Given the description of an element on the screen output the (x, y) to click on. 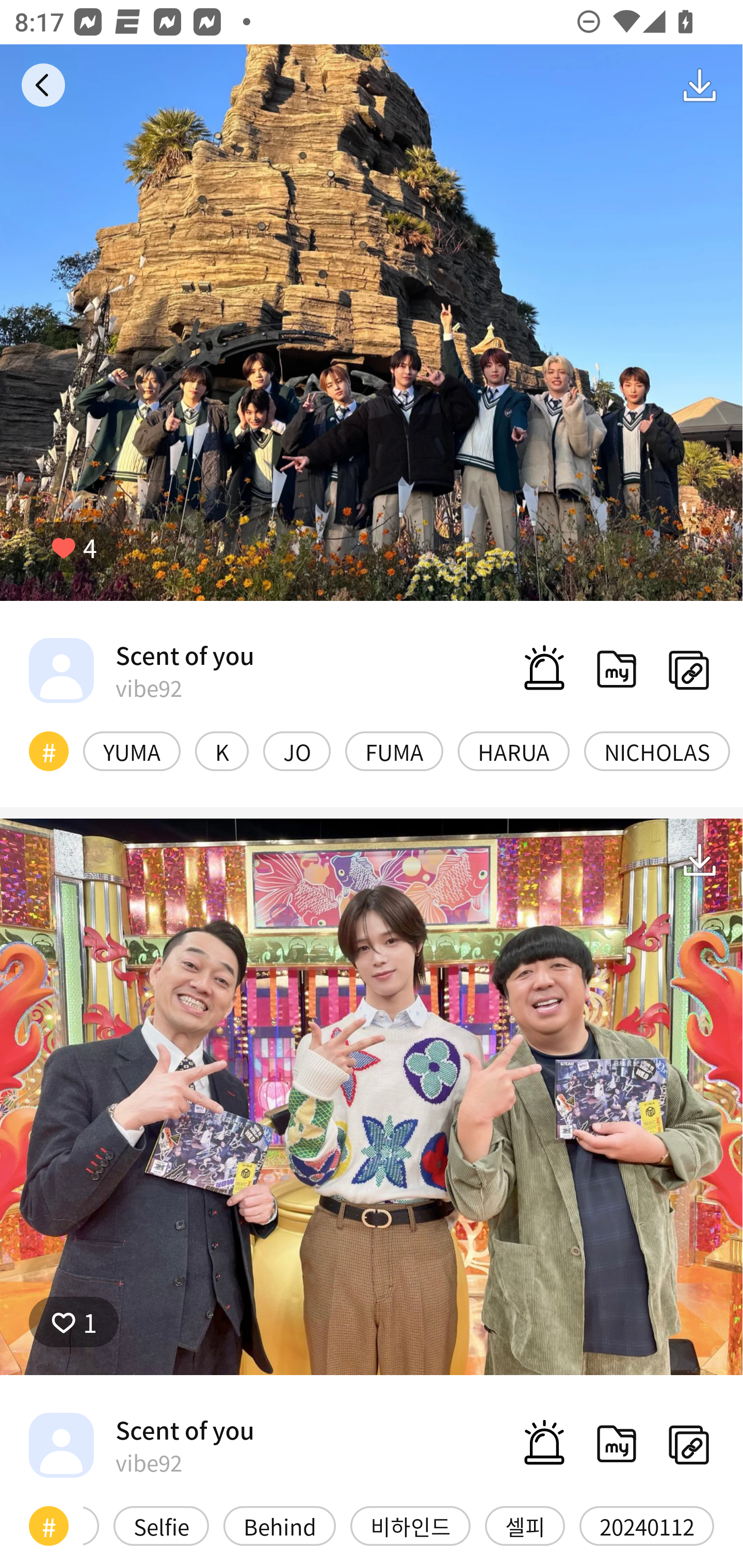
4 (371, 322)
4 (73, 547)
Scent of you vibe92 (141, 670)
YUMA (131, 750)
K (221, 750)
JO (296, 750)
FUMA (394, 750)
HARUA (513, 750)
NICHOLAS (656, 750)
1 (371, 1096)
1 (73, 1321)
Scent of you vibe92 (141, 1444)
Selfie (160, 1526)
Behind (279, 1526)
비하인드 (410, 1526)
셀피 (524, 1526)
20240112 (646, 1526)
